Given the description of an element on the screen output the (x, y) to click on. 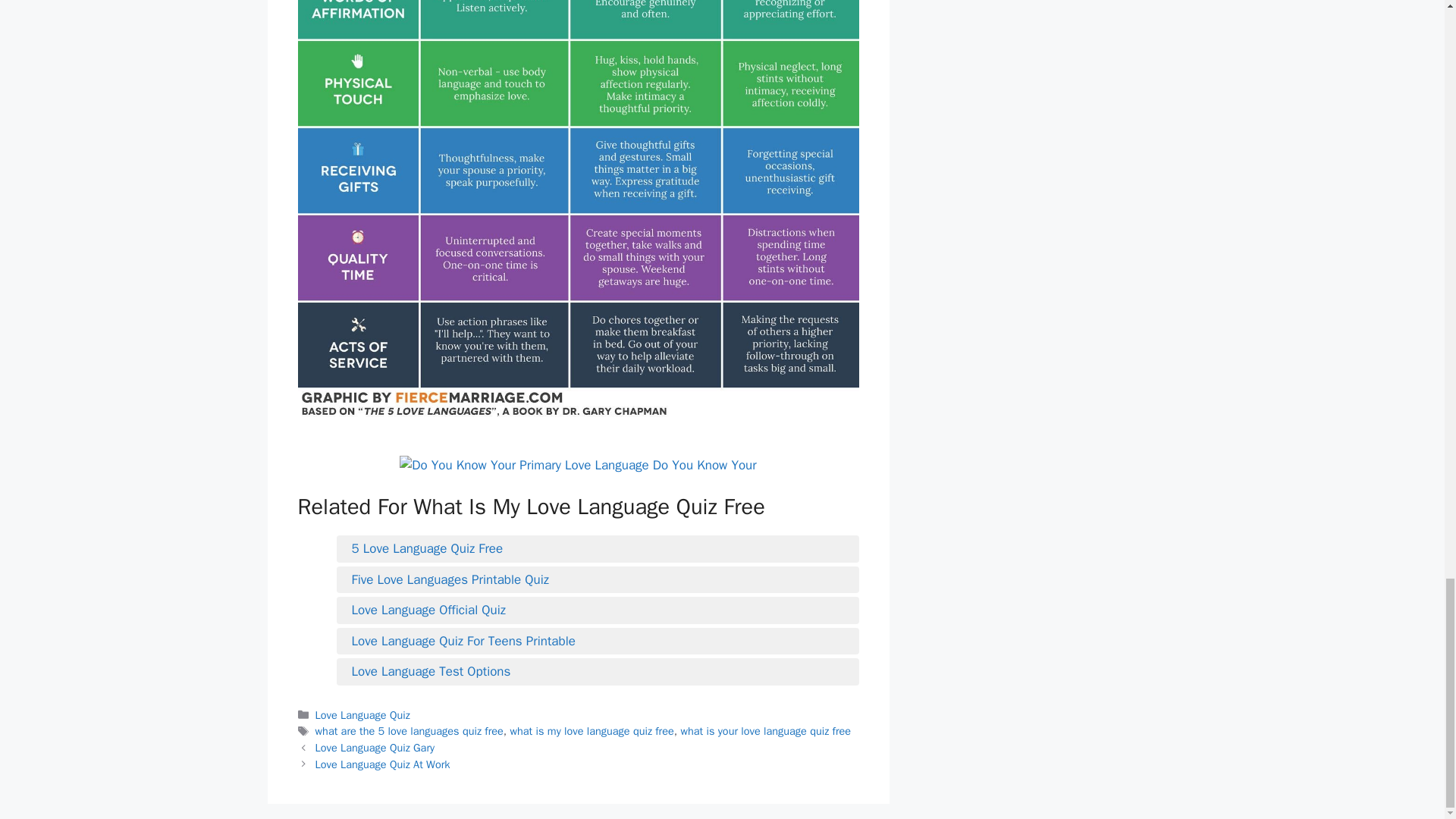
what are the 5 love languages quiz free (409, 730)
what is my love language quiz free (592, 730)
Love Language Official Quiz (597, 609)
Love Language Test Options (597, 671)
Love Language Quiz At Work (382, 764)
what is your love language quiz free (764, 730)
Love Language Quiz (362, 714)
Five Love Languages Printable Quiz (597, 579)
5 Love Language Quiz Free (597, 548)
Love Language Quiz Gary (374, 747)
Love Language Quiz For Teens Printable (597, 640)
